Given the description of an element on the screen output the (x, y) to click on. 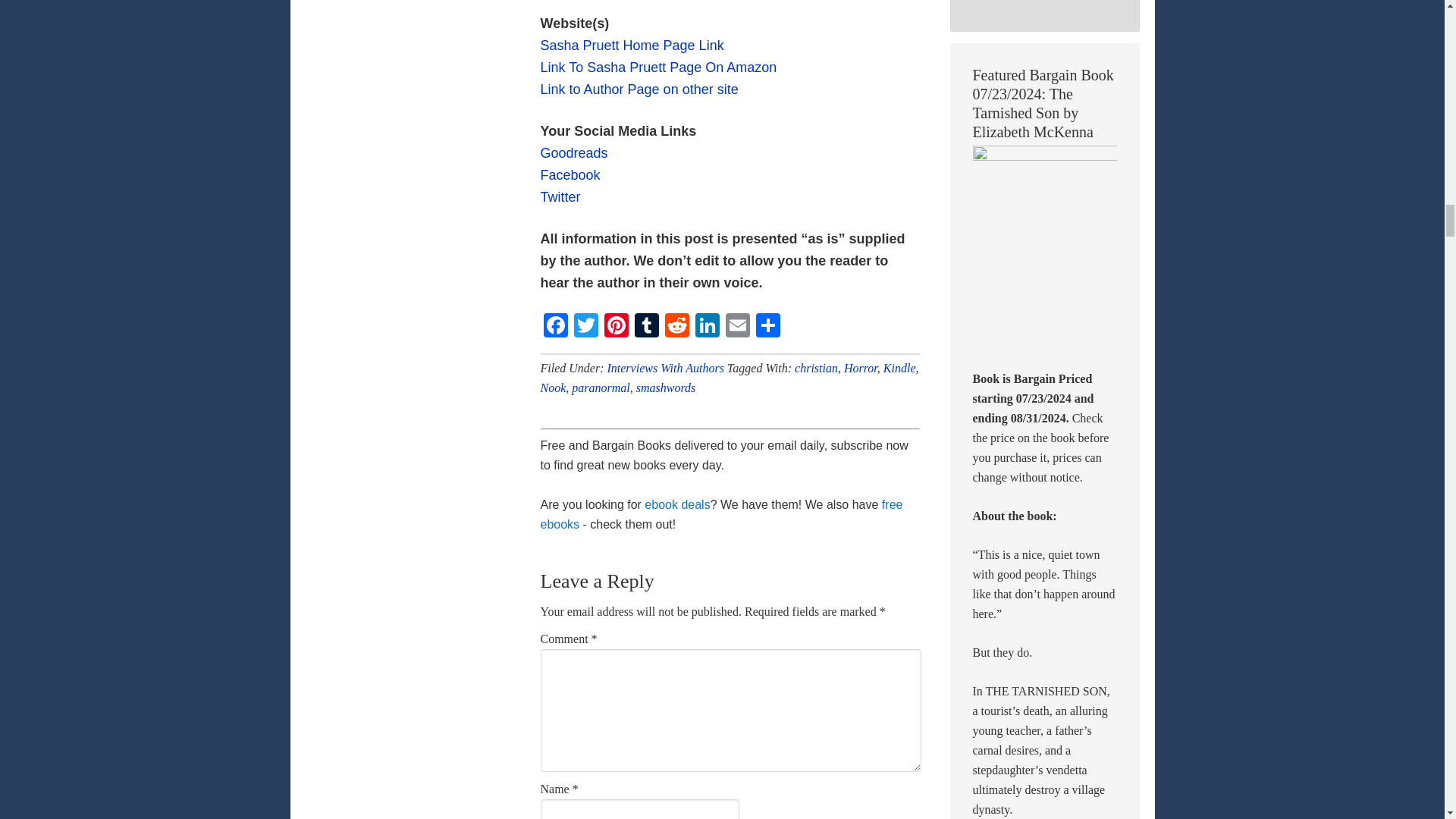
Reddit (676, 326)
Goodreads (573, 152)
Tumblr (645, 326)
Link to Author Page on other site (639, 89)
Facebook (555, 326)
Facebook (569, 174)
Sasha Pruett Home Page Link (631, 45)
Pinterest (614, 326)
Link To Sasha Pruett Page On Amazon (658, 67)
LinkedIn (706, 326)
Twitter (584, 326)
Email (737, 326)
